Given the description of an element on the screen output the (x, y) to click on. 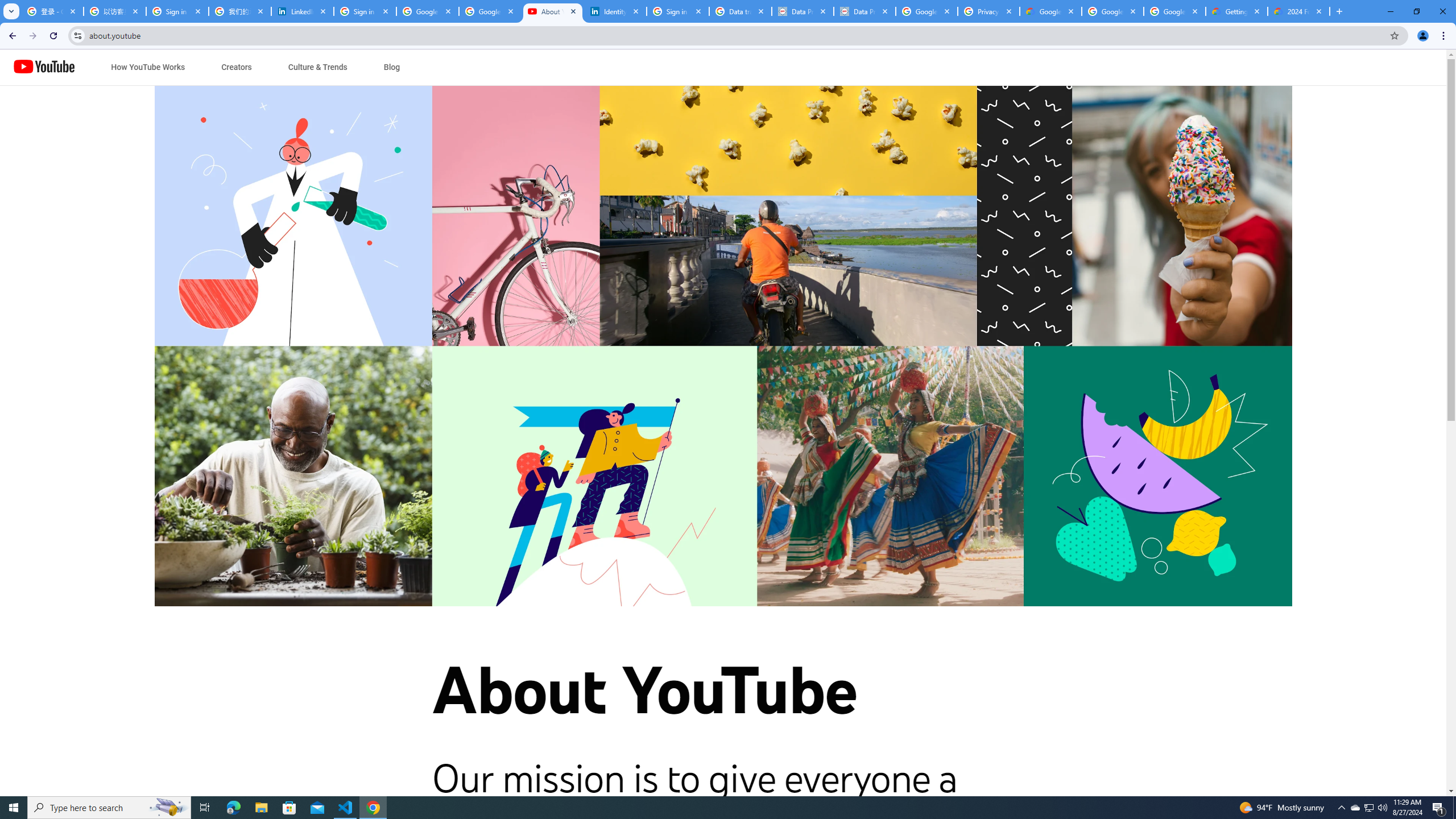
Sign in - Google Accounts (365, 11)
Google Workspace - Specific Terms (1111, 11)
How YouTube Works (147, 67)
Data Privacy Framework (802, 11)
